Given the description of an element on the screen output the (x, y) to click on. 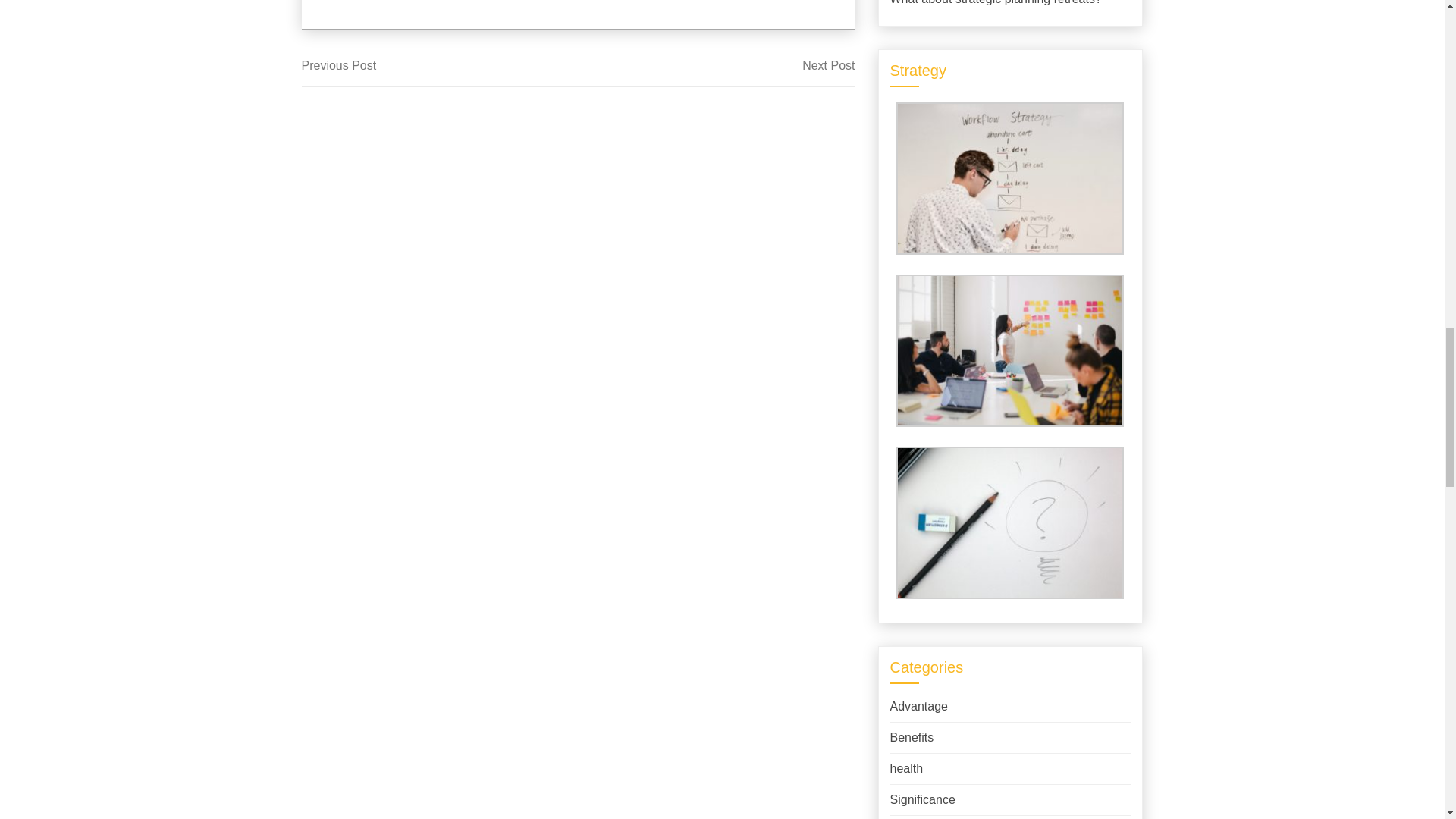
Benefits (911, 737)
Advantage (919, 706)
Significance (439, 65)
What about strategic planning retreats? (922, 799)
health (716, 65)
